Given the description of an element on the screen output the (x, y) to click on. 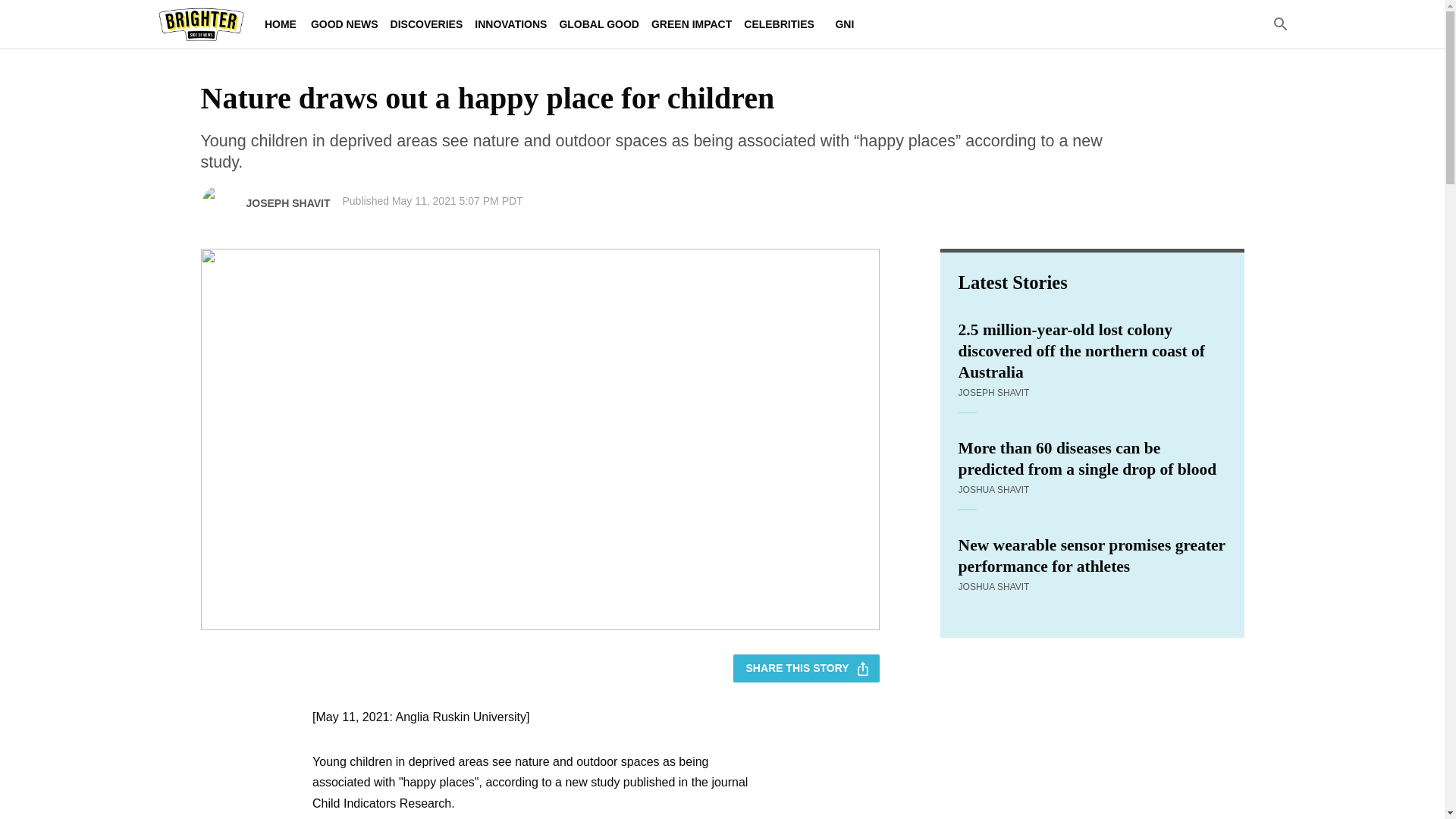
JOSHUA SHAVIT (993, 489)
INNOVATIONS (510, 24)
SHARE THIS STORY (806, 668)
DISCOVERIES (426, 24)
GLOBAL GOOD (599, 24)
JOSHUA SHAVIT (993, 586)
JOSEPH SHAVIT (288, 203)
Brighter Side of News (200, 24)
HOME (280, 24)
GREEN IMPACT (691, 24)
JOSEPH SHAVIT (993, 392)
GOOD NEWS (344, 24)
